Given the description of an element on the screen output the (x, y) to click on. 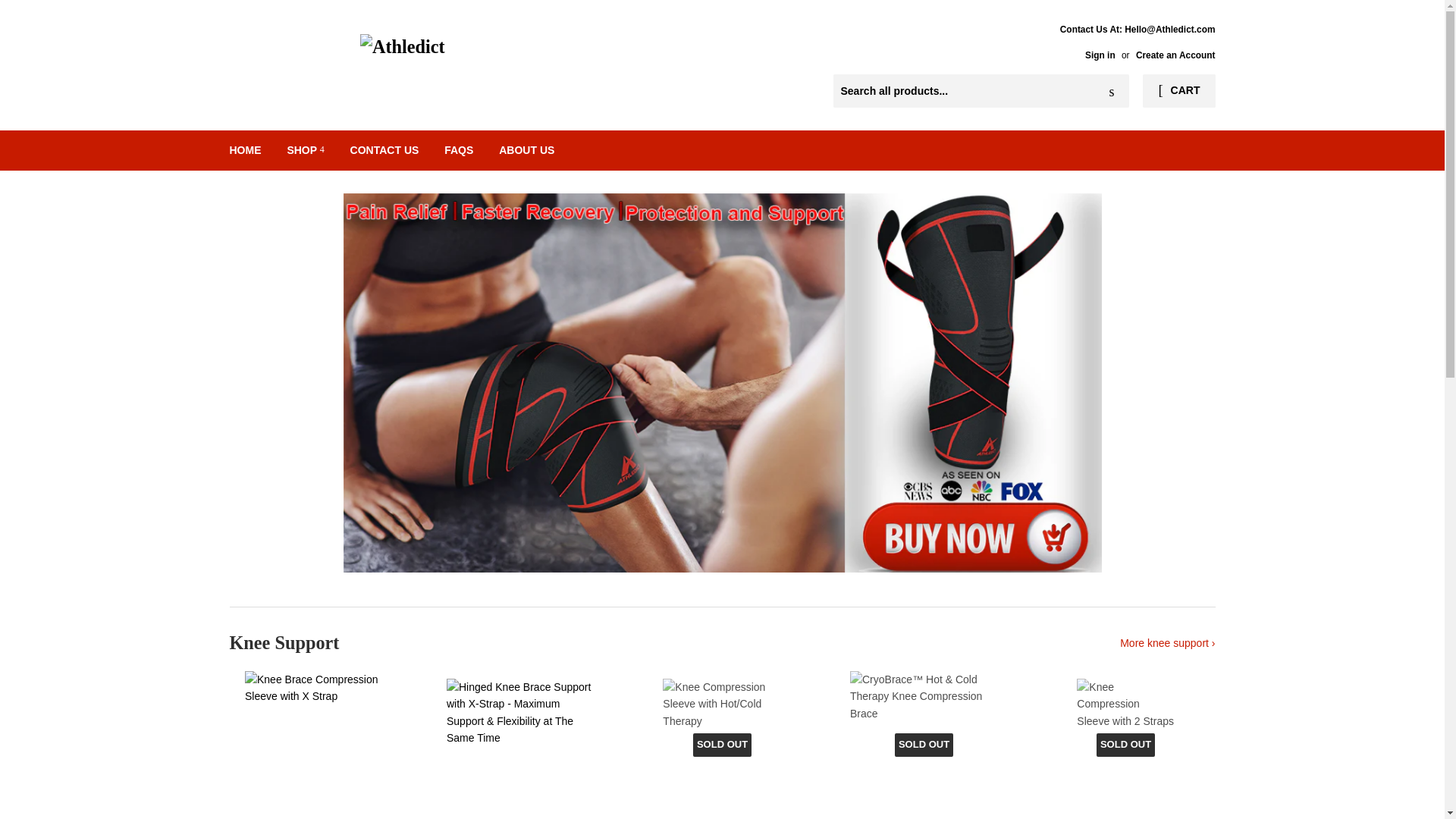
SHOP (304, 149)
Search (1111, 91)
CONTACT US (384, 149)
Create an Account (1175, 54)
FAQS (458, 149)
HOME (245, 149)
Sign in (1099, 54)
ABOUT US (526, 149)
CART (1178, 90)
